Given the description of an element on the screen output the (x, y) to click on. 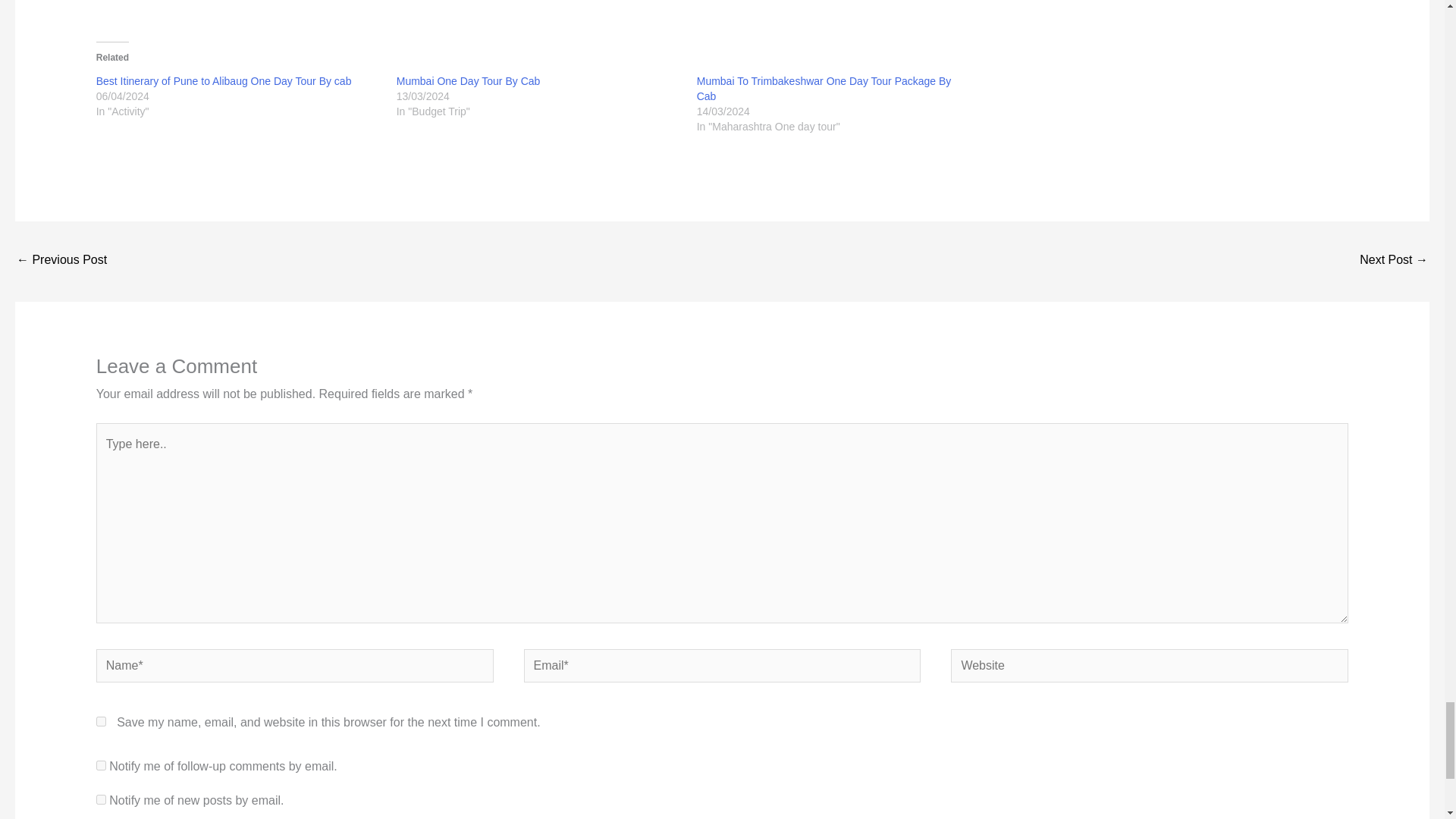
Mumbai One Day Tour By Cab (468, 80)
subscribe (101, 765)
Mumbai To Trimbakeshwar One Day Tour Package By Cab (824, 88)
yes (101, 721)
Best Itinerary of Pune to Alibaug One Day Tour By cab (224, 80)
How To Plan Mumbai To Igatpuri One Day Tour by cab (61, 261)
How To Plan Mumbai To Bhimashankar One Day Tour By cab (1393, 261)
subscribe (101, 799)
